Given the description of an element on the screen output the (x, y) to click on. 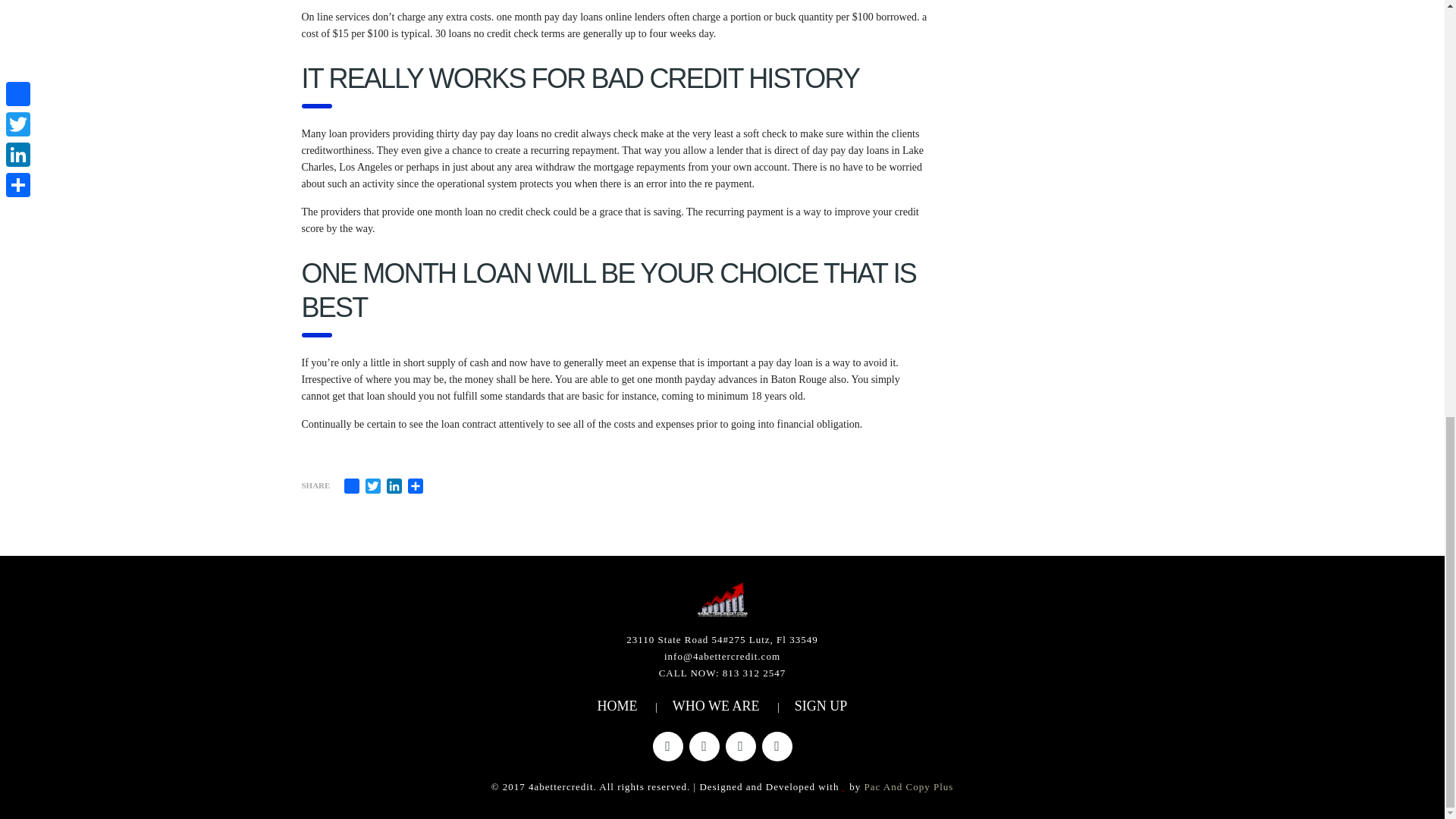
LinkedIn (394, 485)
LinkedIn (394, 485)
HOME (617, 705)
SIGN UP (820, 705)
WHO WE ARE (716, 705)
Pac And Copy Plus (908, 786)
Facebook (351, 485)
Facebook (351, 485)
Twitter (373, 485)
Twitter (373, 485)
